Given the description of an element on the screen output the (x, y) to click on. 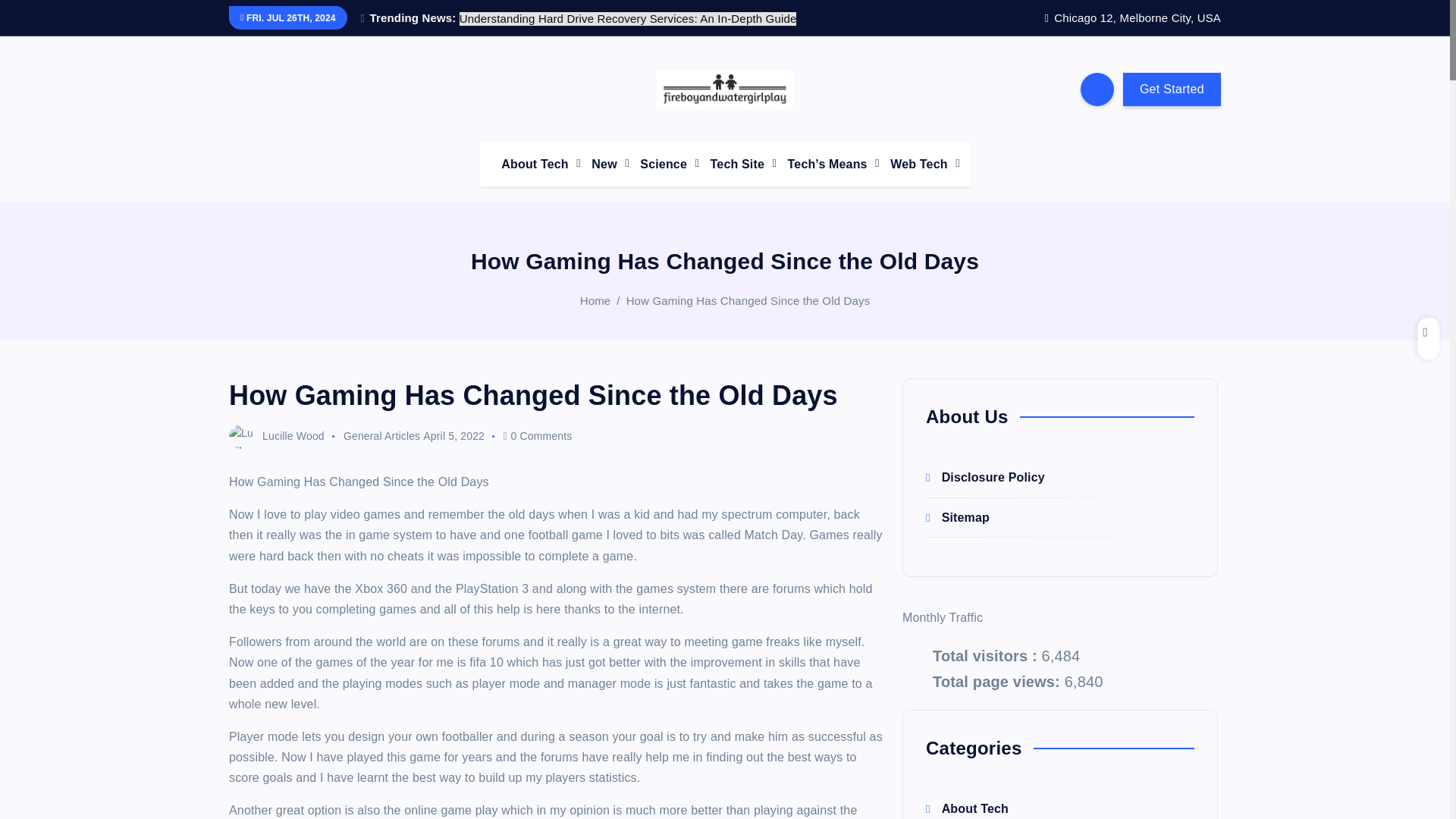
Science (664, 164)
Get Started (1171, 89)
New (605, 164)
About Tech (535, 164)
About Tech (535, 164)
New (605, 164)
Science (664, 164)
Web Tech (919, 164)
Tech Site (738, 164)
